Given the description of an element on the screen output the (x, y) to click on. 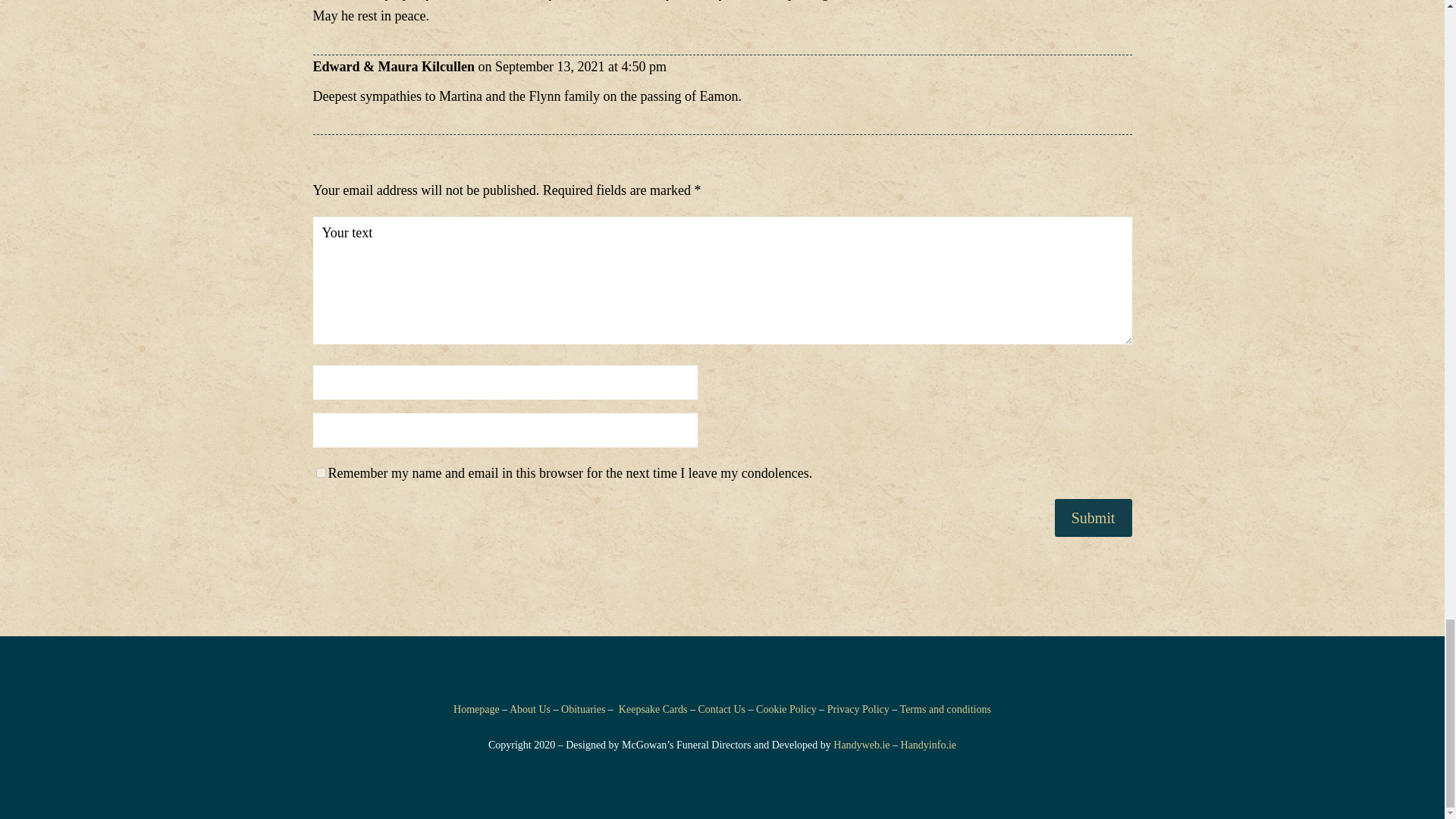
Contact Us (721, 708)
Keepsake Cards (652, 708)
Handyinfo.ie (928, 745)
Privacy Policy (858, 708)
Homepage (475, 708)
Handyweb.ie (860, 745)
Web Design by Handyweb (860, 745)
Cookie Policy (785, 708)
Obituaries (582, 708)
Submit (1093, 517)
